Given the description of an element on the screen output the (x, y) to click on. 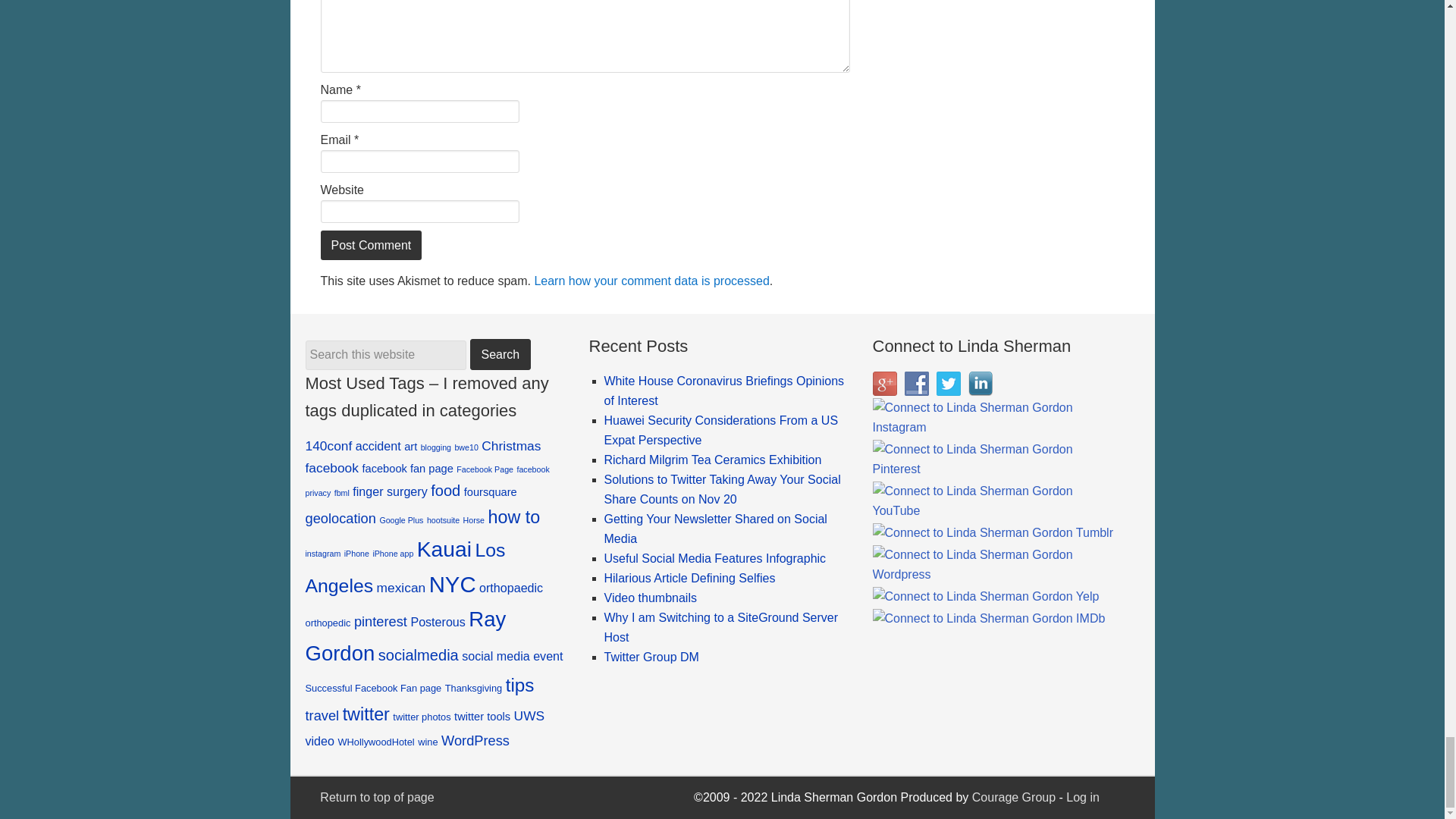
Search (500, 354)
Connect to Linda Sherman Gordon Pinterest (997, 459)
Connect to Linda Sherman Gordon Yelp (985, 596)
Connect to Linda Sherman Gordon Twitter (947, 383)
Connect to Linda Sherman Gordon Facebook (916, 383)
Connect to Linda Sherman Gordon LinkedIn (979, 383)
Search (500, 354)
Connect to Linda Sherman Gordon IMDb (988, 618)
Connect to Linda Sherman Gordon Wordpress (997, 564)
Connect to Linda Sherman Gordon Instagram (997, 417)
Connect to Linda Sherman Gordon YouTube (997, 500)
Post Comment (371, 245)
Connect to Linda Sherman Gordon Tumblr (992, 532)
